Given the description of an element on the screen output the (x, y) to click on. 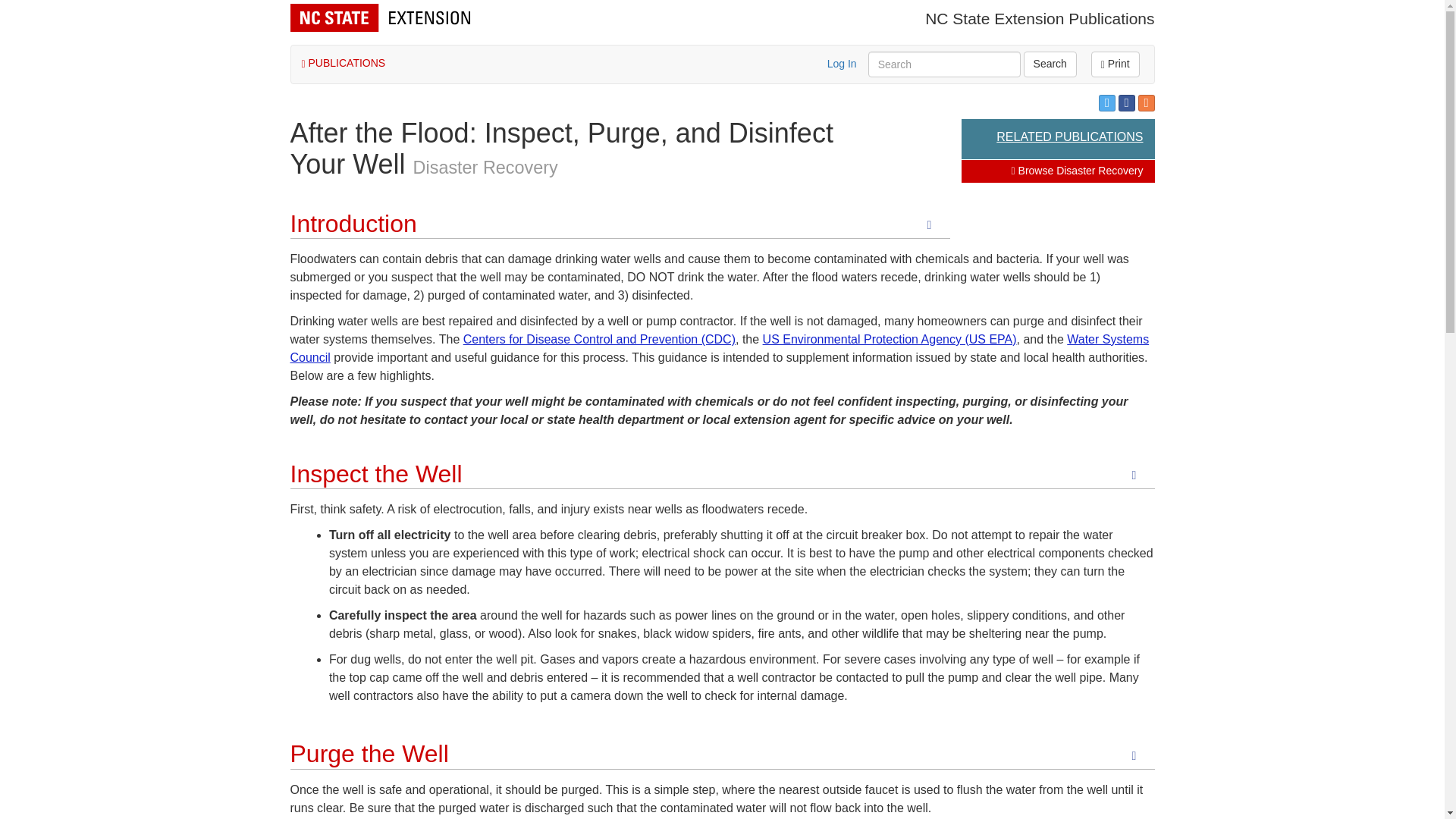
Water Systems Council (718, 347)
Search (1050, 63)
Disaster Recovery (485, 167)
Log In (842, 63)
Share on Facebook (1126, 103)
Browse Disaster Recovery (1076, 170)
Browse Disaster Recovery publications (1076, 170)
Subscribe to Disaster Recovery (1145, 103)
Print (1115, 63)
Browse Disaster Recovery publications (485, 167)
